Given the description of an element on the screen output the (x, y) to click on. 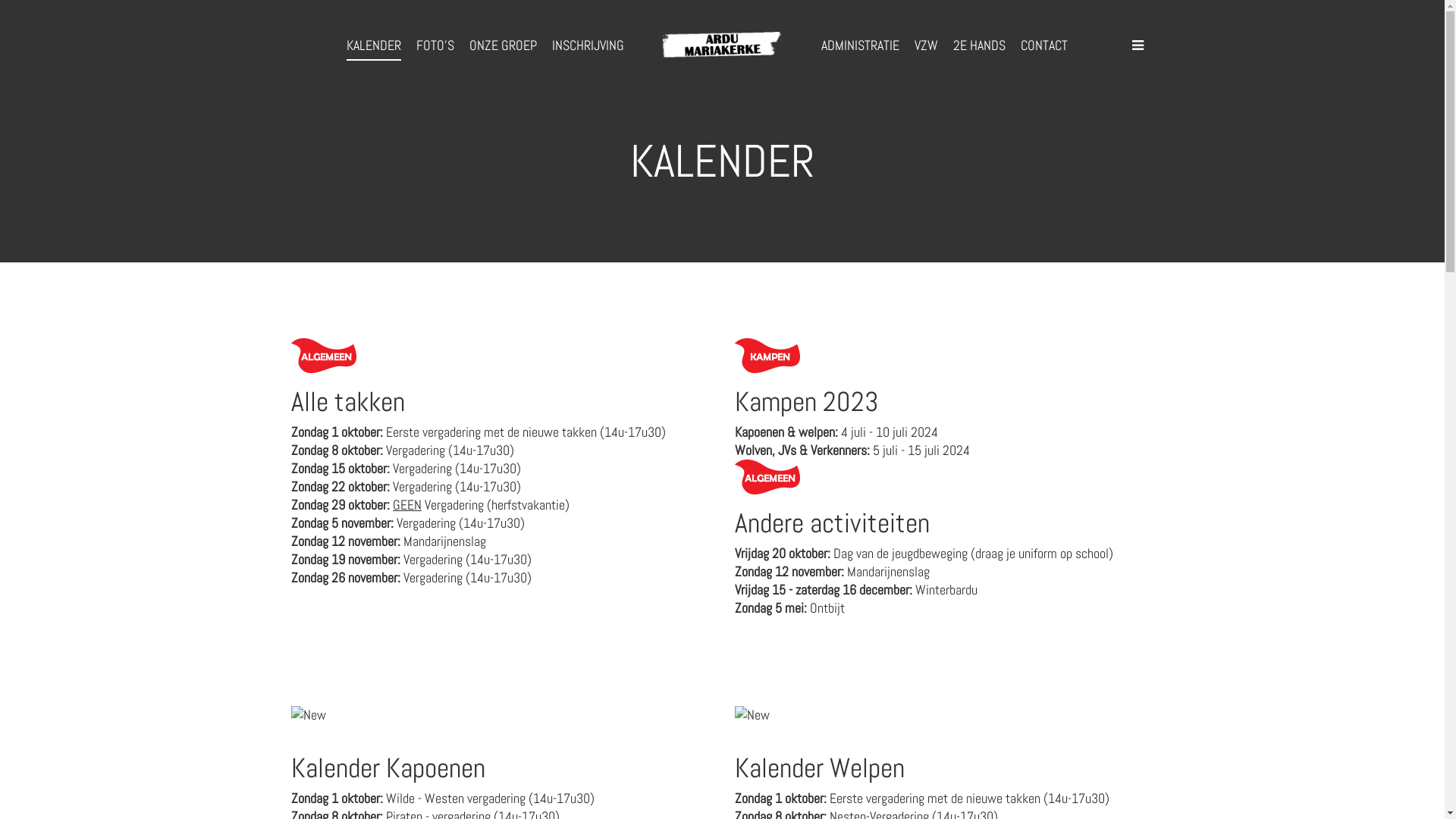
2E HANDS Element type: text (978, 45)
ONZE GROEP Element type: text (502, 45)
INSCHRIJVING Element type: text (588, 45)
CONTACT Element type: text (1043, 45)
FOTO'S Element type: text (434, 45)
KALENDER Element type: text (372, 45)
VZW Element type: text (926, 45)
ADMINISTRATIE Element type: text (859, 45)
